Given the description of an element on the screen output the (x, y) to click on. 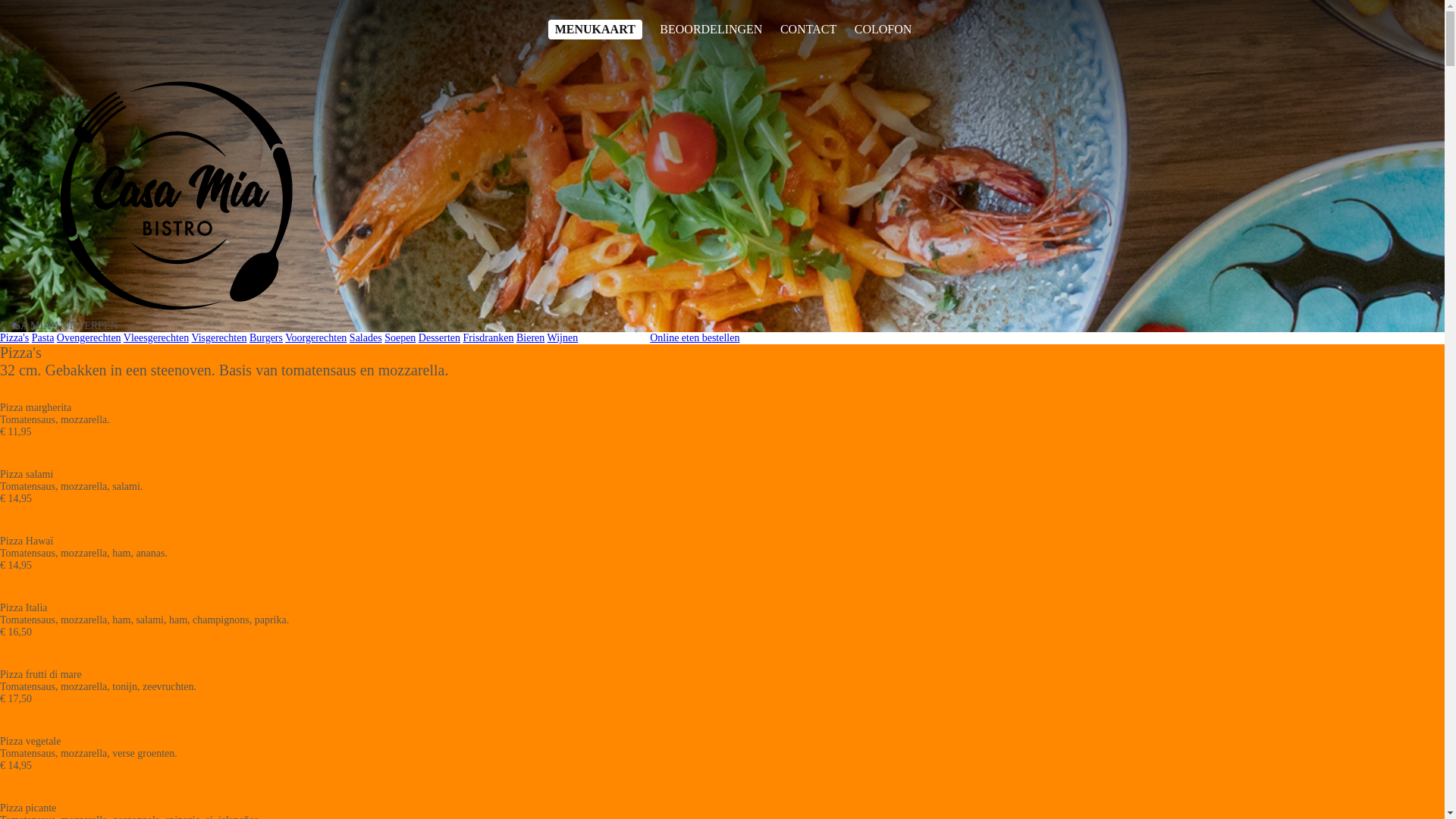
Wijnen Element type: text (562, 337)
Vleesgerechten Element type: text (155, 337)
COLOFON Element type: text (883, 29)
Ovengerechten Element type: text (88, 337)
Bieren Element type: text (530, 337)
Pizza's Element type: text (14, 337)
Soepen Element type: text (399, 337)
Pasta Element type: text (42, 337)
MENUKAART Element type: text (595, 29)
Visgerechten Element type: text (218, 337)
Burgers Element type: text (265, 337)
Desserten Element type: text (439, 337)
Frisdranken Element type: text (488, 337)
Online eten bestellen Element type: text (694, 337)
BEOORDELINGEN Element type: text (710, 29)
Salades Element type: text (365, 337)
Voorgerechten Element type: text (315, 337)
CONTACT Element type: text (808, 29)
